Given the description of an element on the screen output the (x, y) to click on. 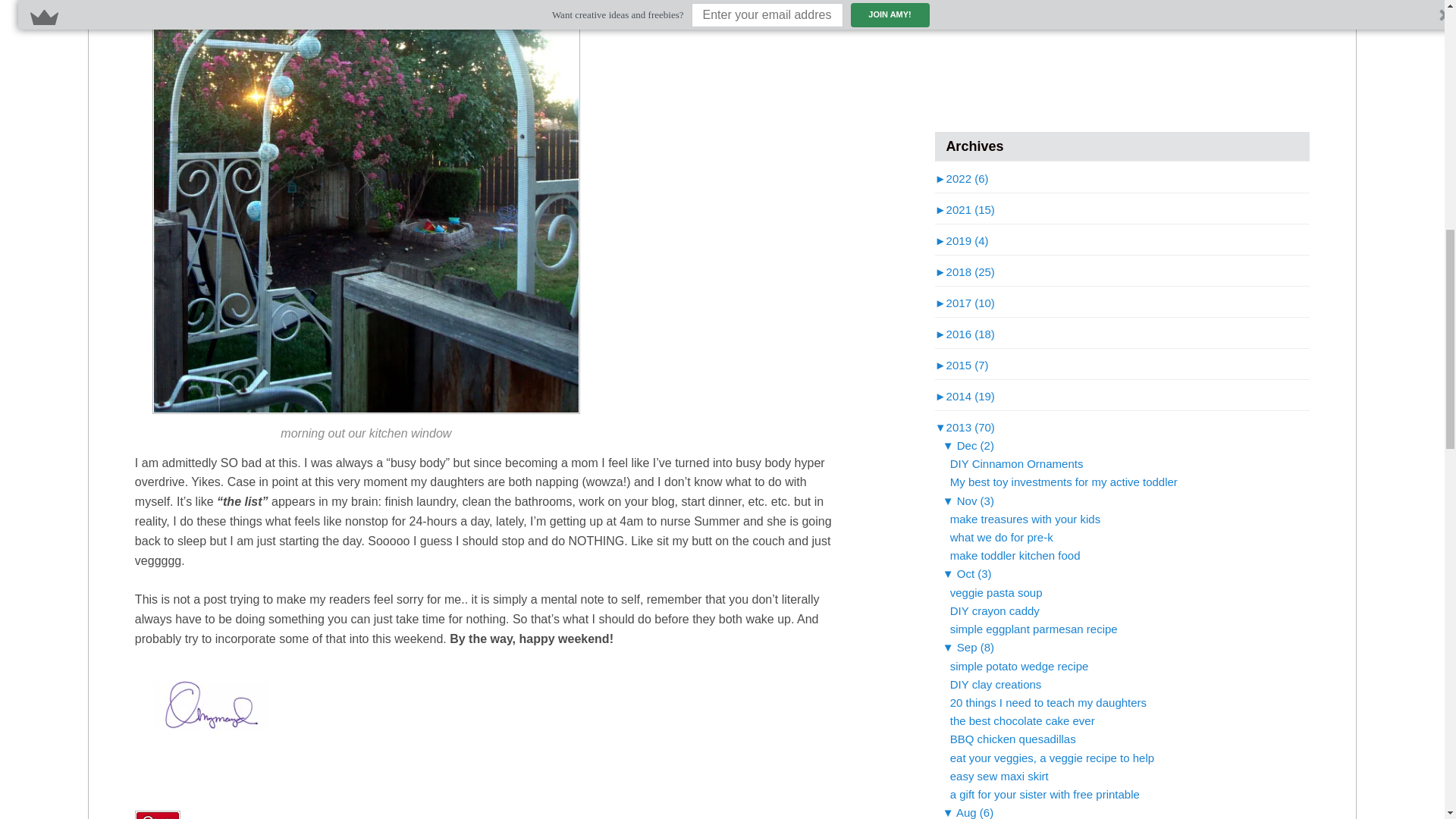
Signature (249, 707)
